Given the description of an element on the screen output the (x, y) to click on. 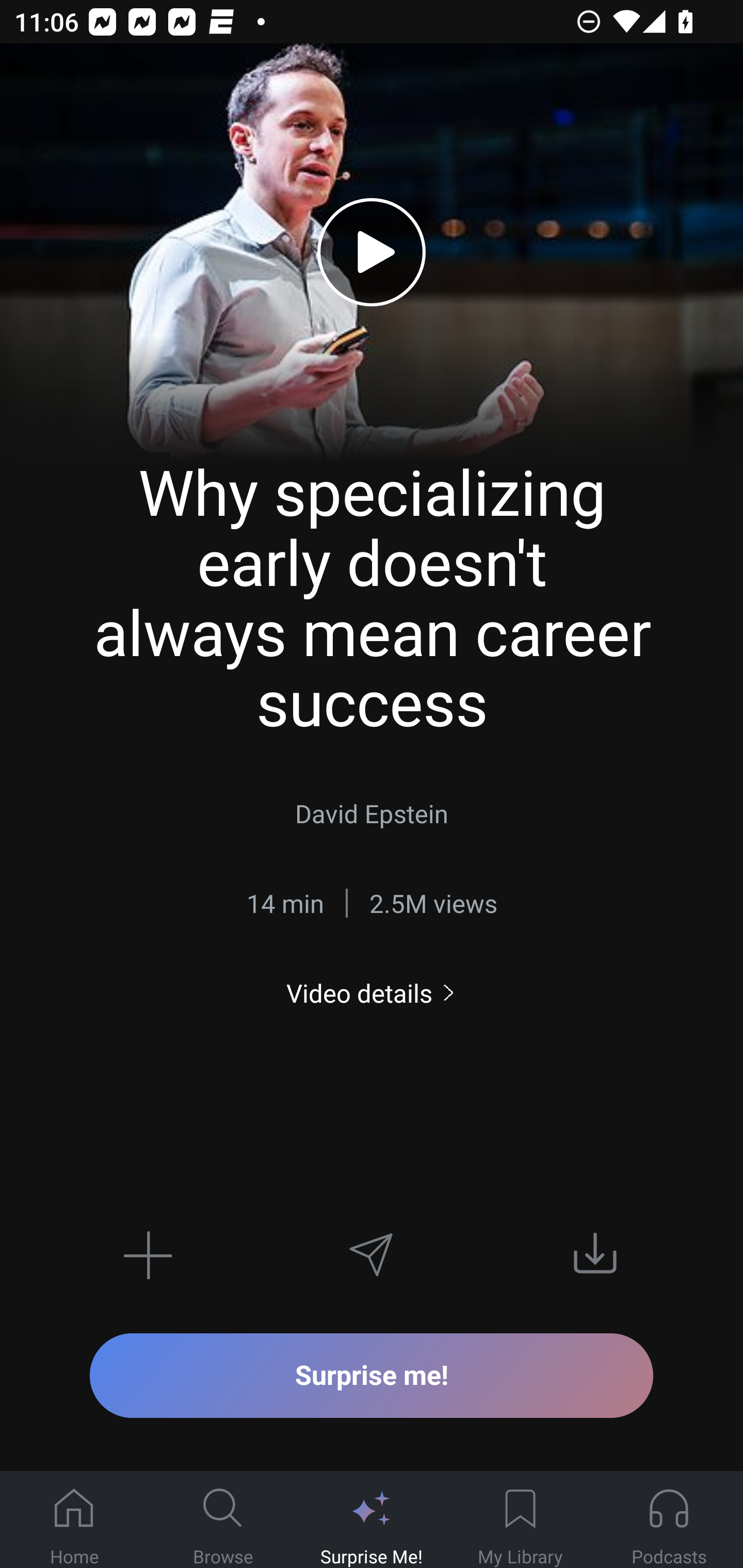
Video details (371, 993)
Surprise me! (371, 1374)
Home (74, 1520)
Browse (222, 1520)
Surprise Me! (371, 1520)
My Library (519, 1520)
Podcasts (668, 1520)
